Given the description of an element on the screen output the (x, y) to click on. 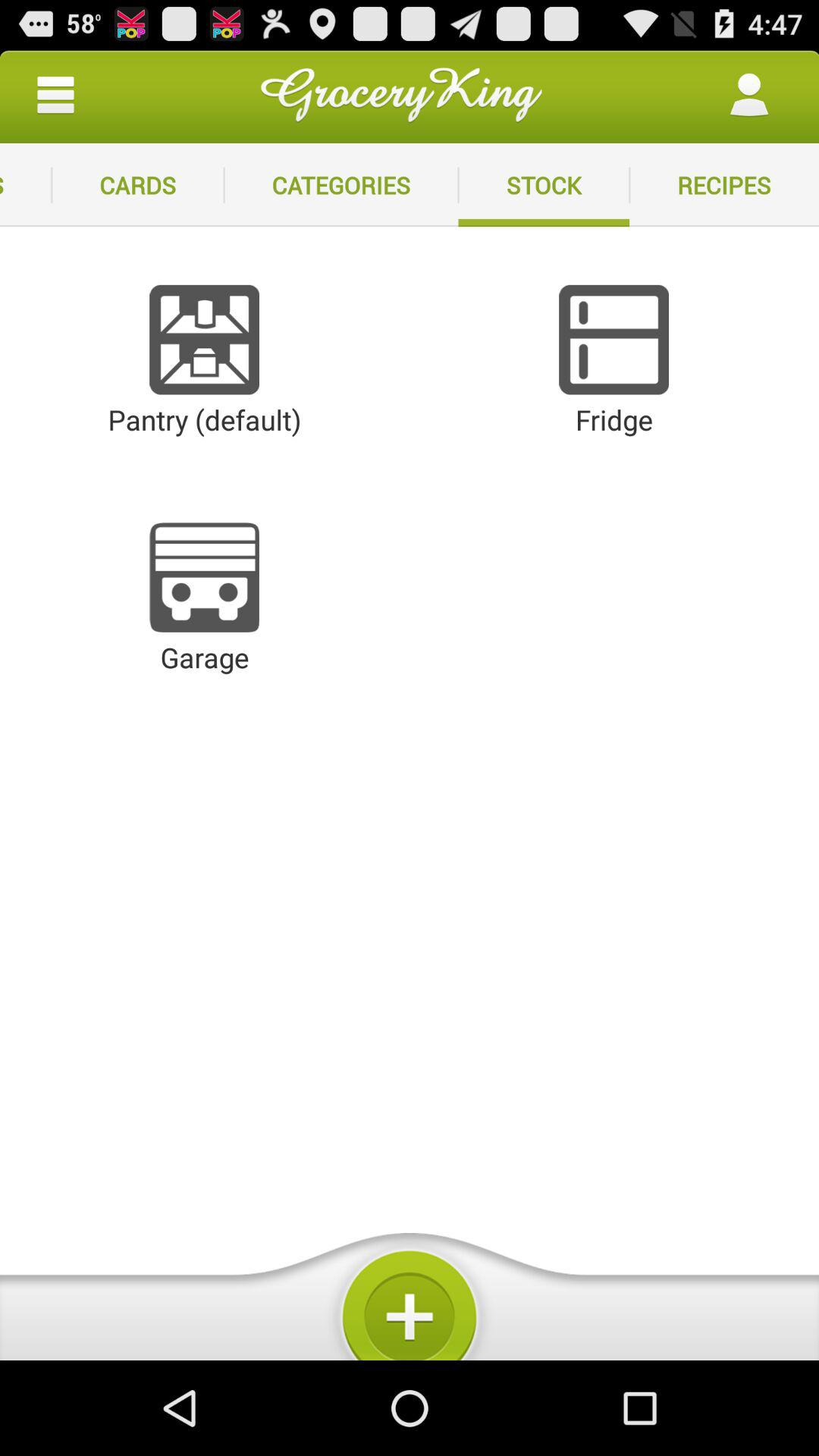
press item next to the categories icon (137, 184)
